Given the description of an element on the screen output the (x, y) to click on. 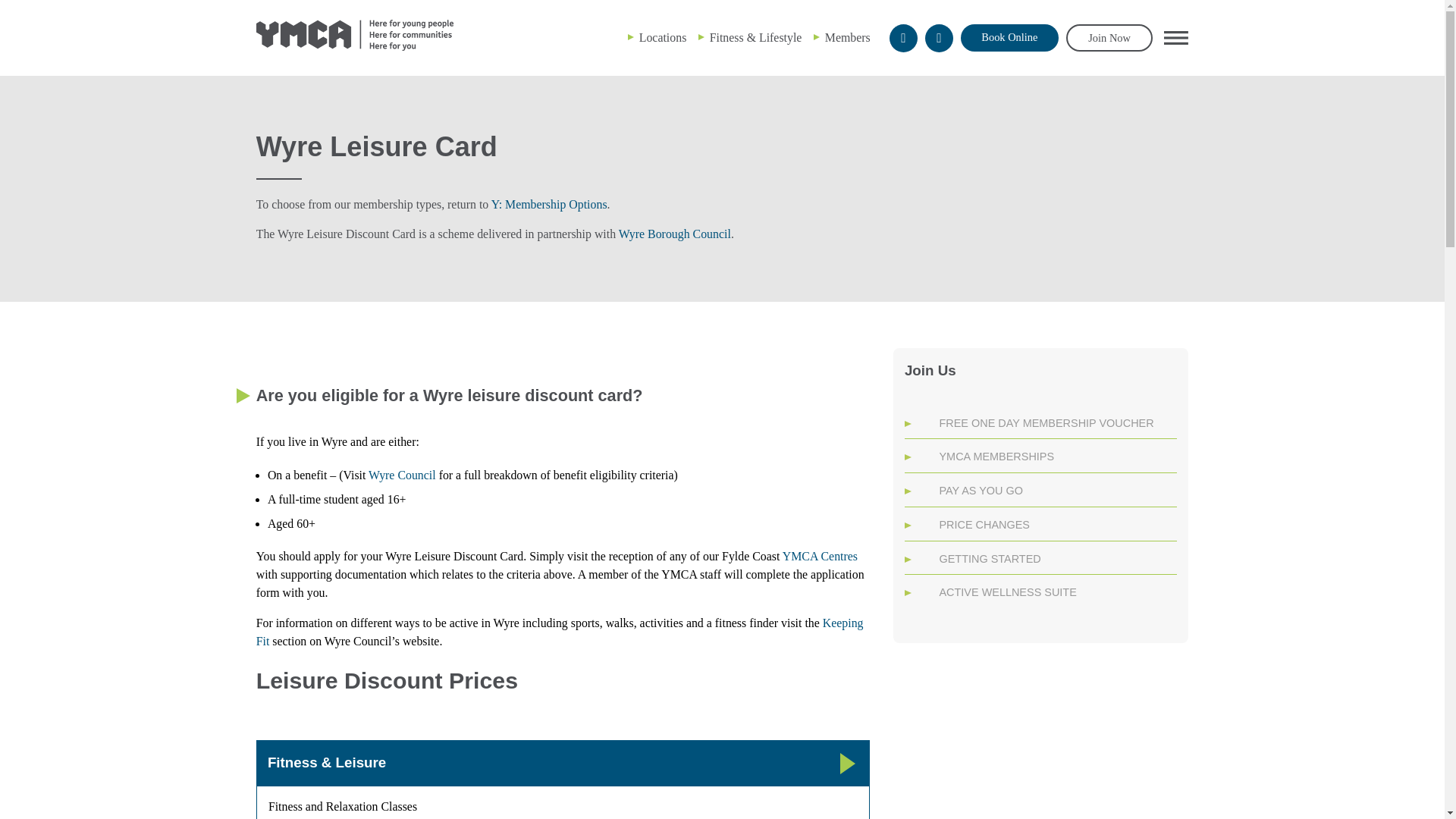
Members (847, 37)
Join Now (1109, 37)
Book Online (1009, 38)
Locations (662, 37)
